Given the description of an element on the screen output the (x, y) to click on. 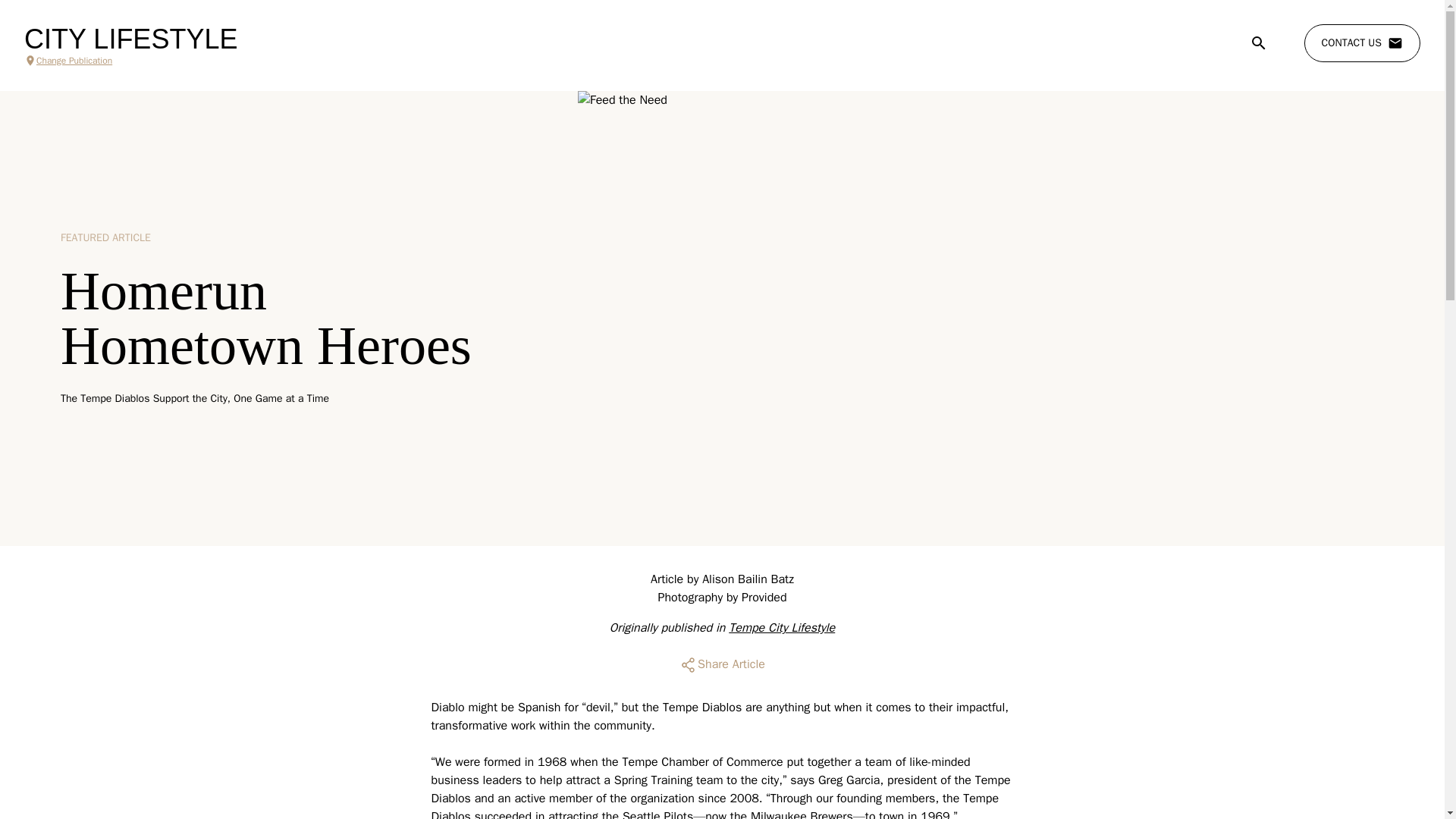
CITY LIFESTYLE (130, 39)
Tempe City Lifestyle (781, 627)
CONTACT US (1362, 43)
Change Publication (130, 60)
Share Article (722, 664)
